Given the description of an element on the screen output the (x, y) to click on. 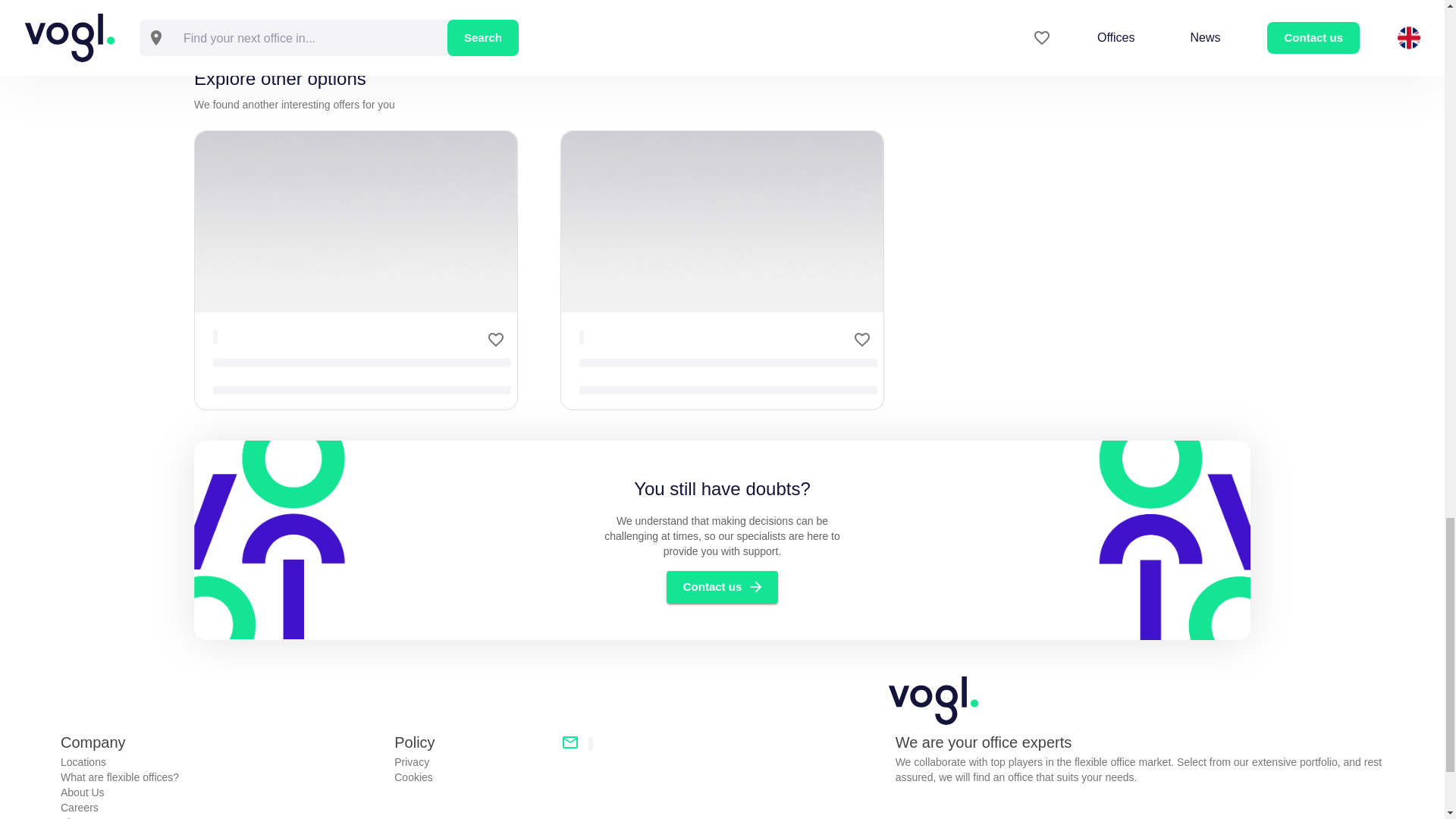
Locations (221, 761)
Contact us (722, 586)
Cookies (471, 776)
Careers (221, 807)
Privacy (471, 761)
About Us (221, 792)
Blog (221, 816)
What are flexible offices? (221, 776)
